Given the description of an element on the screen output the (x, y) to click on. 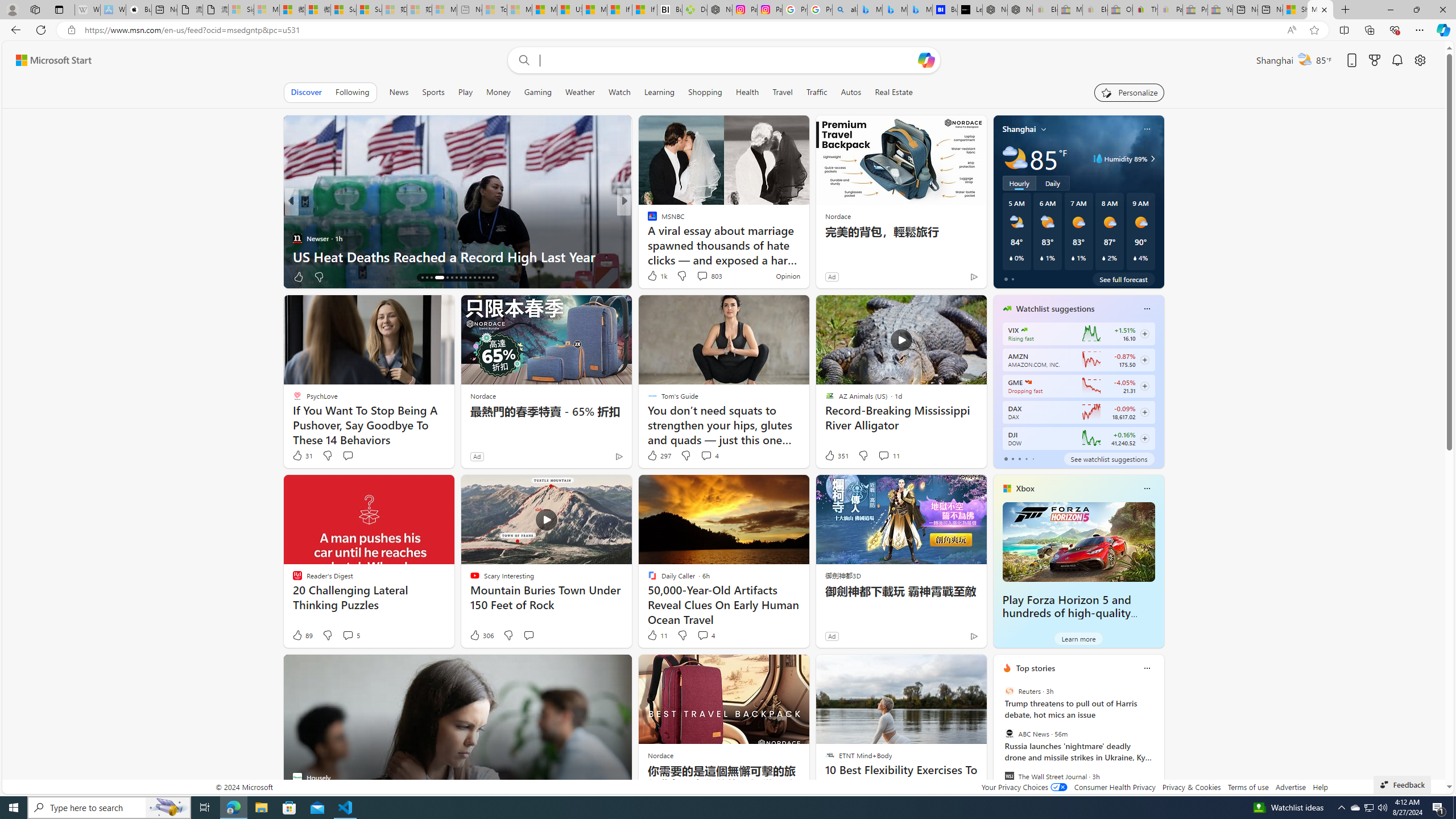
Shanghai (1018, 128)
AutomationID: tab-25 (470, 277)
AutomationID: tab-17 (426, 277)
Try These 14 Yoga Poses to Manage Emotions (807, 256)
